Given the description of an element on the screen output the (x, y) to click on. 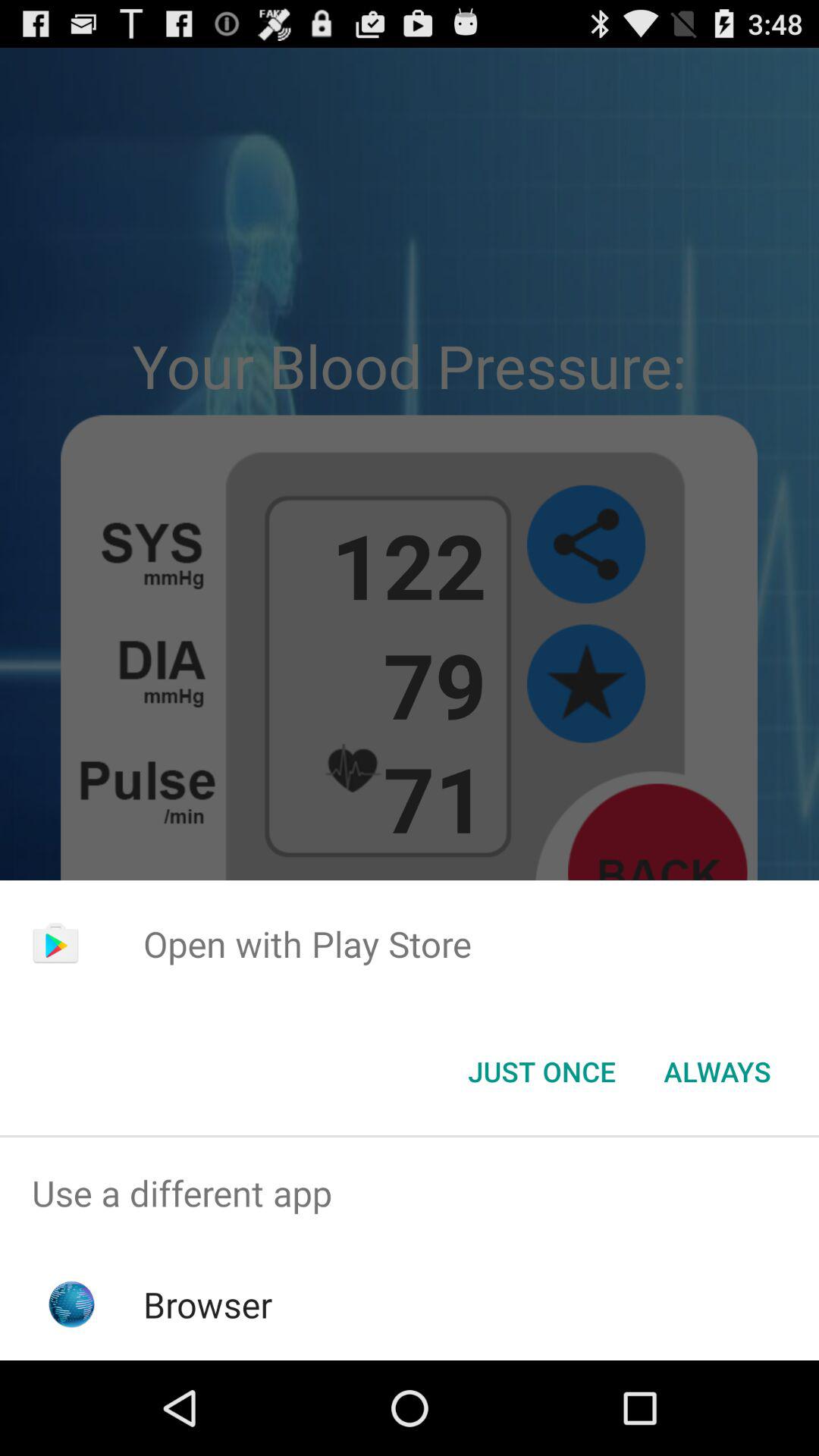
open the always (717, 1071)
